Given the description of an element on the screen output the (x, y) to click on. 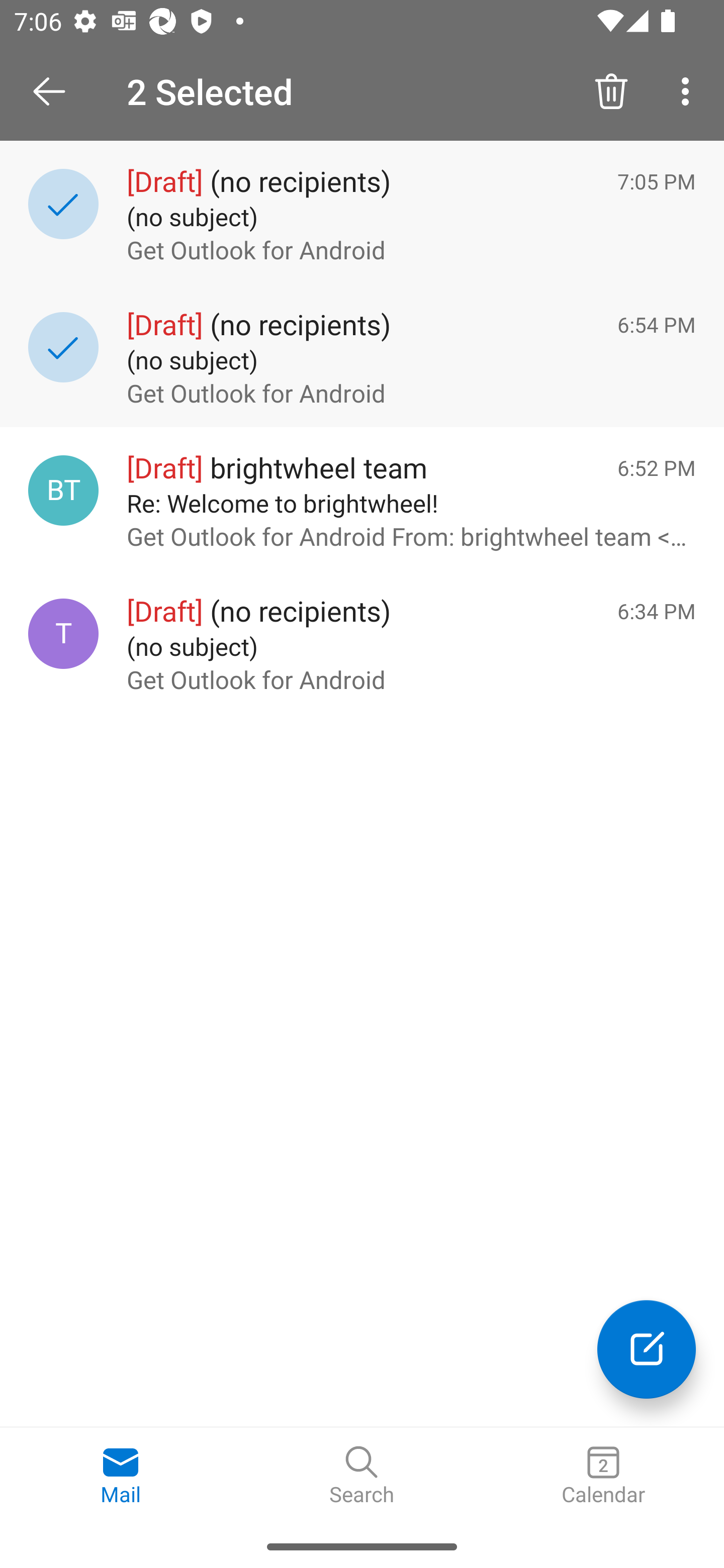
Delete (611, 90)
More options (688, 90)
Open Navigation Drawer (55, 91)
brightwheel team, testappium001@outlook.com (63, 489)
testappium001@outlook.com (63, 633)
Compose (646, 1348)
Search (361, 1475)
Calendar (603, 1475)
